Given the description of an element on the screen output the (x, y) to click on. 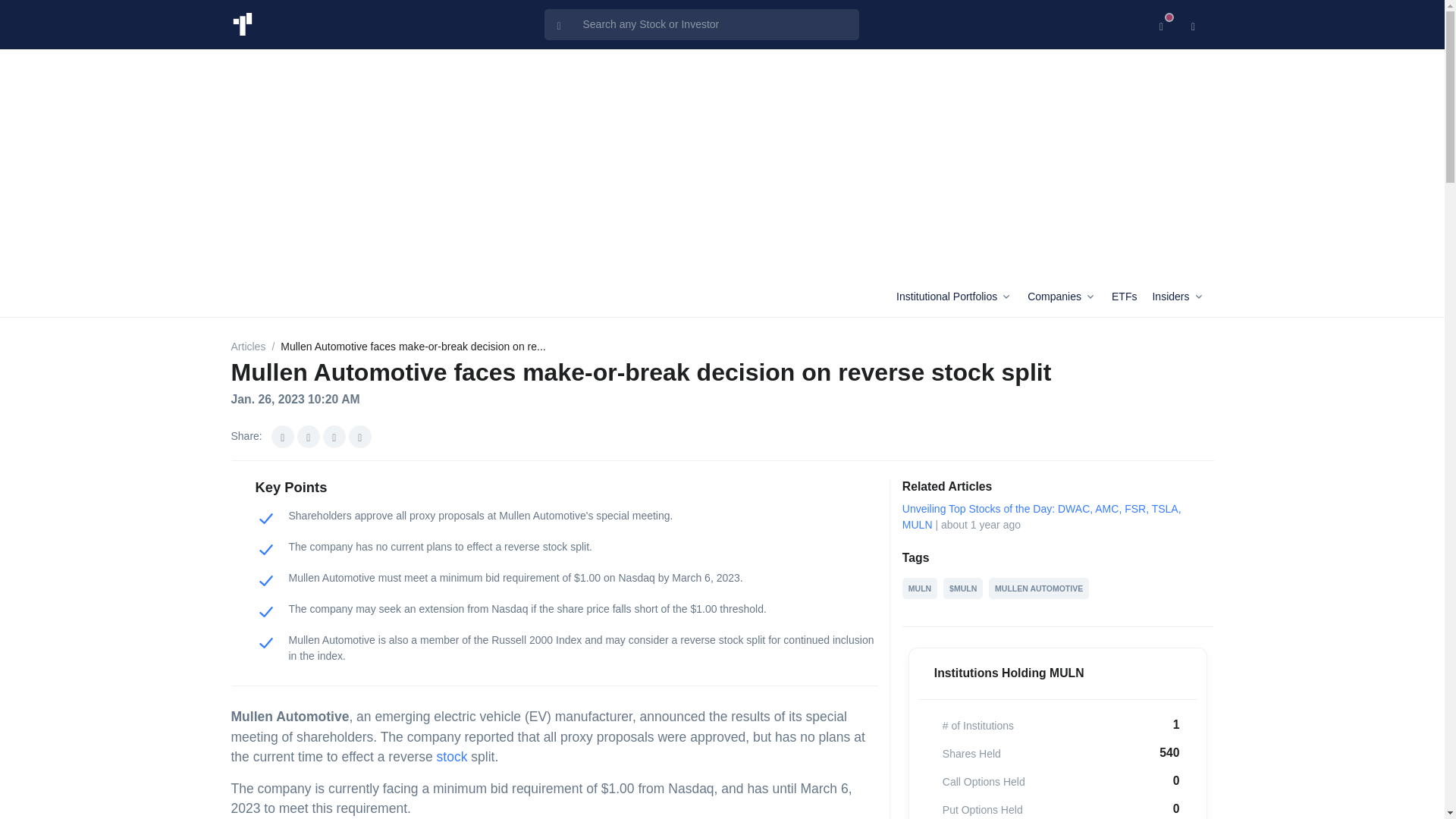
Institutional Portfolios (959, 296)
TickerTracker.io (241, 24)
Companies (1066, 296)
